Given the description of an element on the screen output the (x, y) to click on. 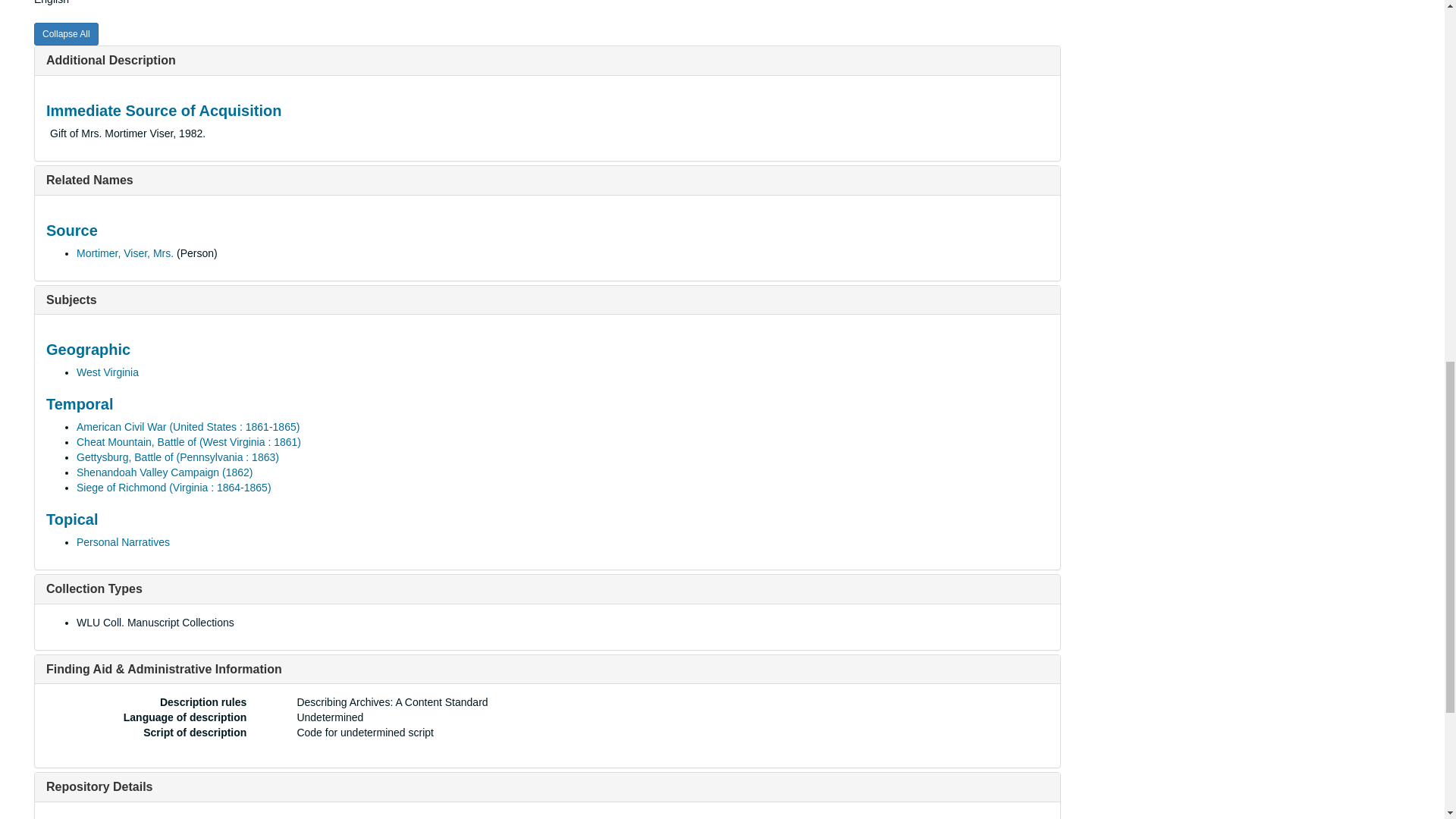
Collection Types (94, 588)
Subjects (71, 299)
Personal Narratives (123, 541)
Related Names (89, 179)
Repository Details (99, 786)
Collapse All (66, 33)
Mortimer, Viser, Mrs. (125, 253)
Additional Description (111, 60)
WLU Coll. Manuscript Collections (155, 622)
West Virginia (107, 372)
